Given the description of an element on the screen output the (x, y) to click on. 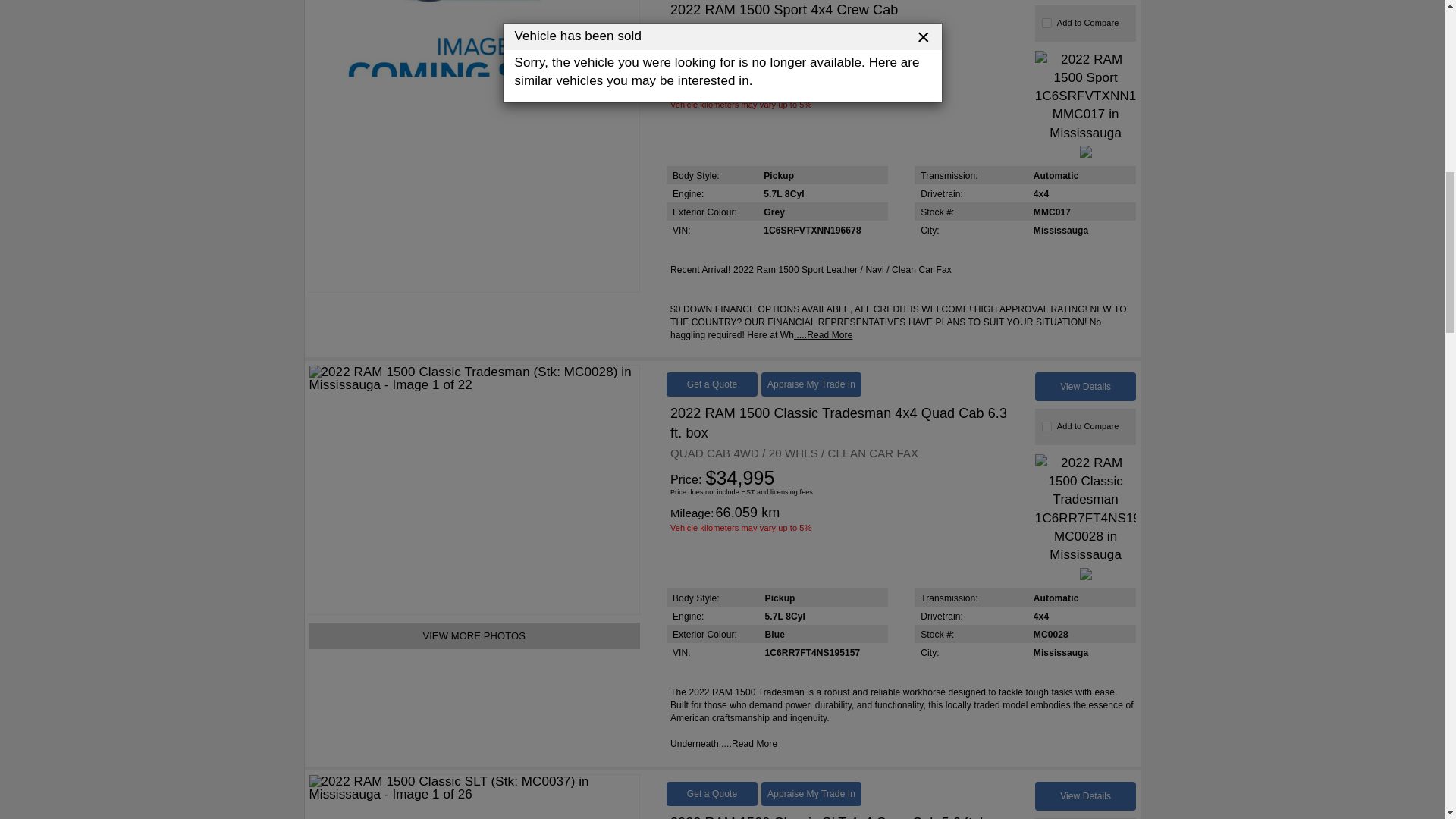
unchecked (1046, 426)
2022 RAM 1500 Sport 1C6SRFVTXNN196678 MMC017 in Mississauga (1086, 96)
2022 RAM 1500 Sport in Mississauga (474, 146)
unchecked (1046, 22)
